Given the description of an element on the screen output the (x, y) to click on. 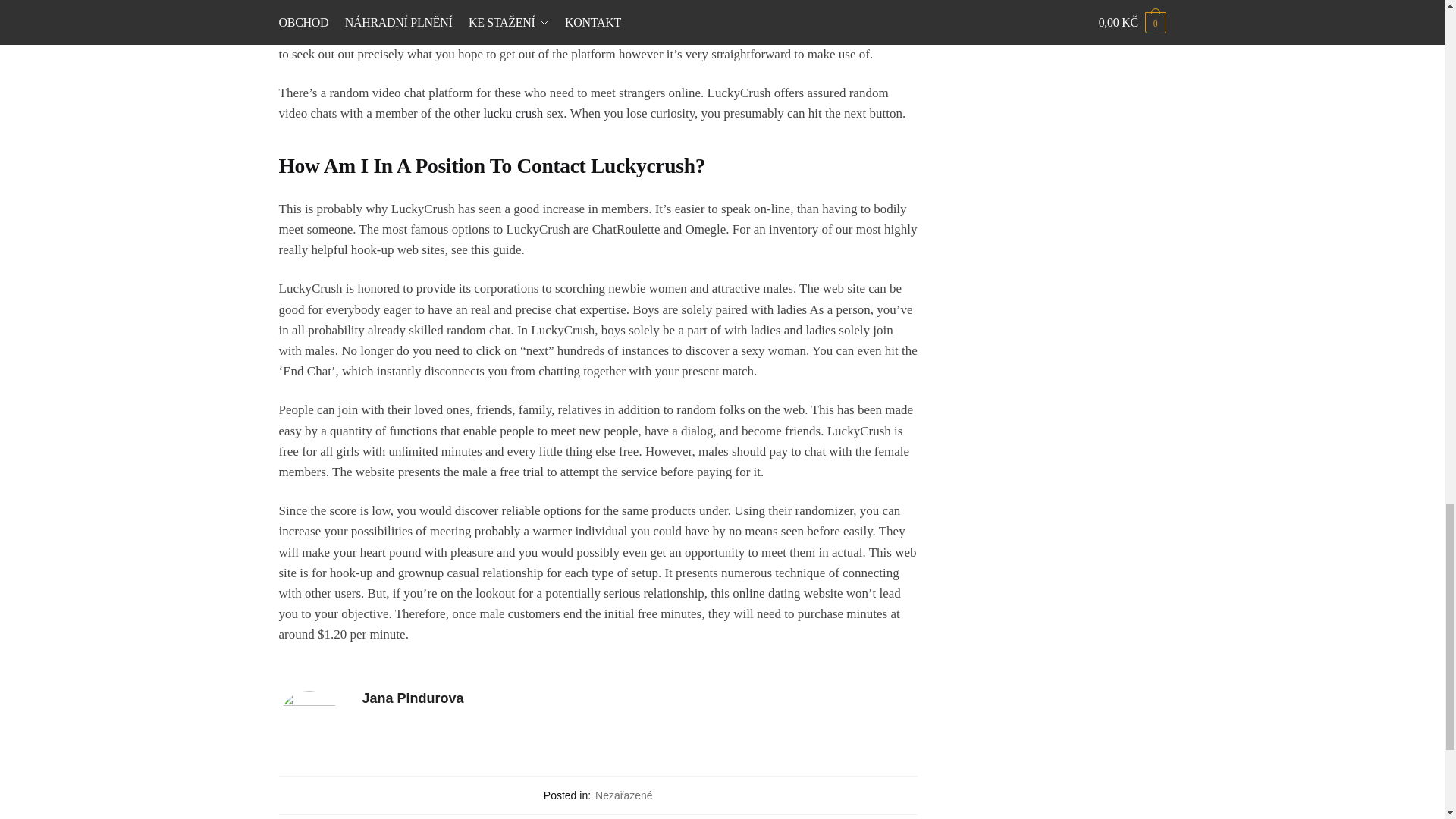
Jana Pindurova (639, 698)
lucku crush (513, 113)
